Given the description of an element on the screen output the (x, y) to click on. 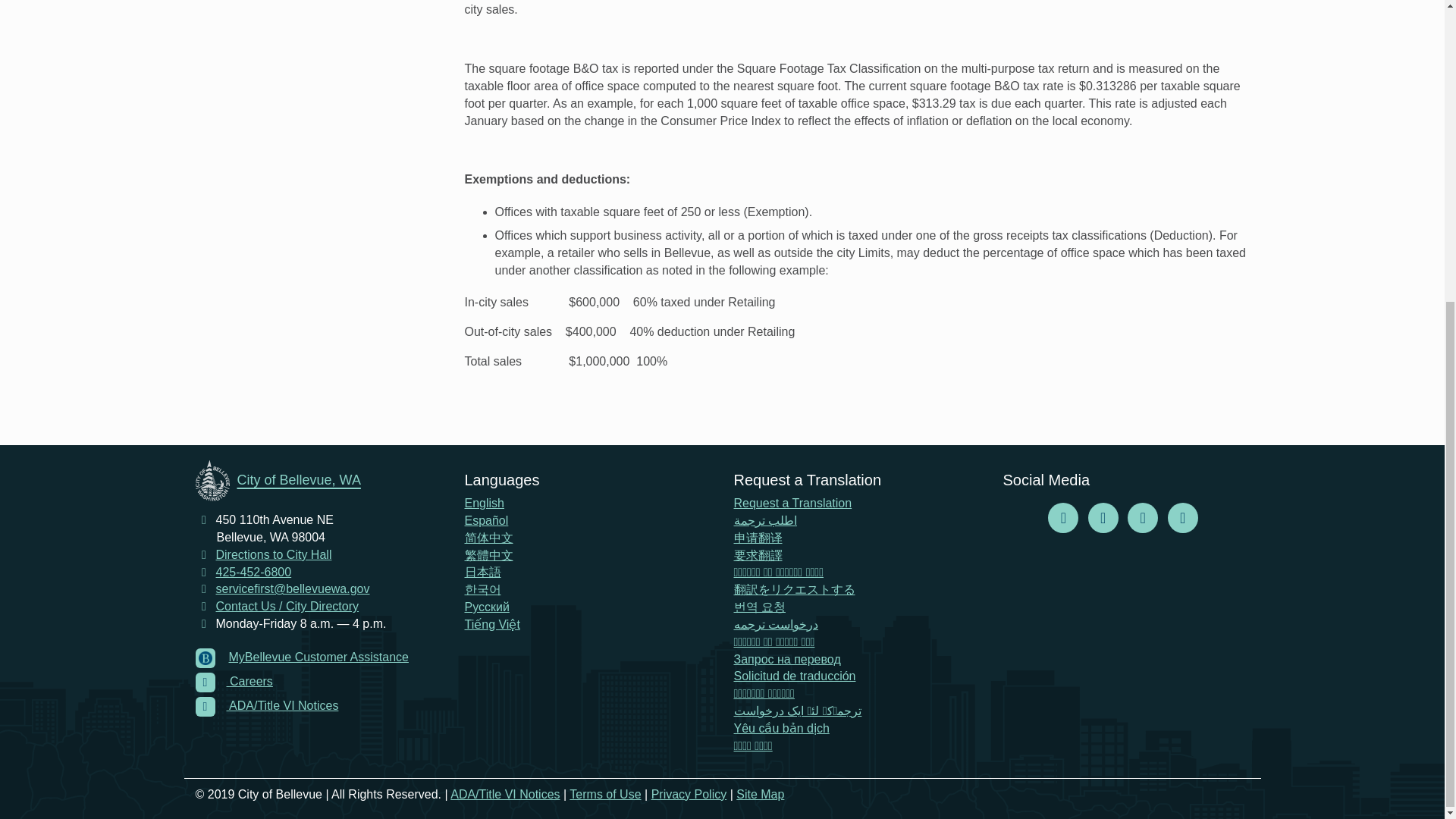
YouTube (1182, 518)
Facebook (1063, 518)
Instagram (1102, 518)
